Given the description of an element on the screen output the (x, y) to click on. 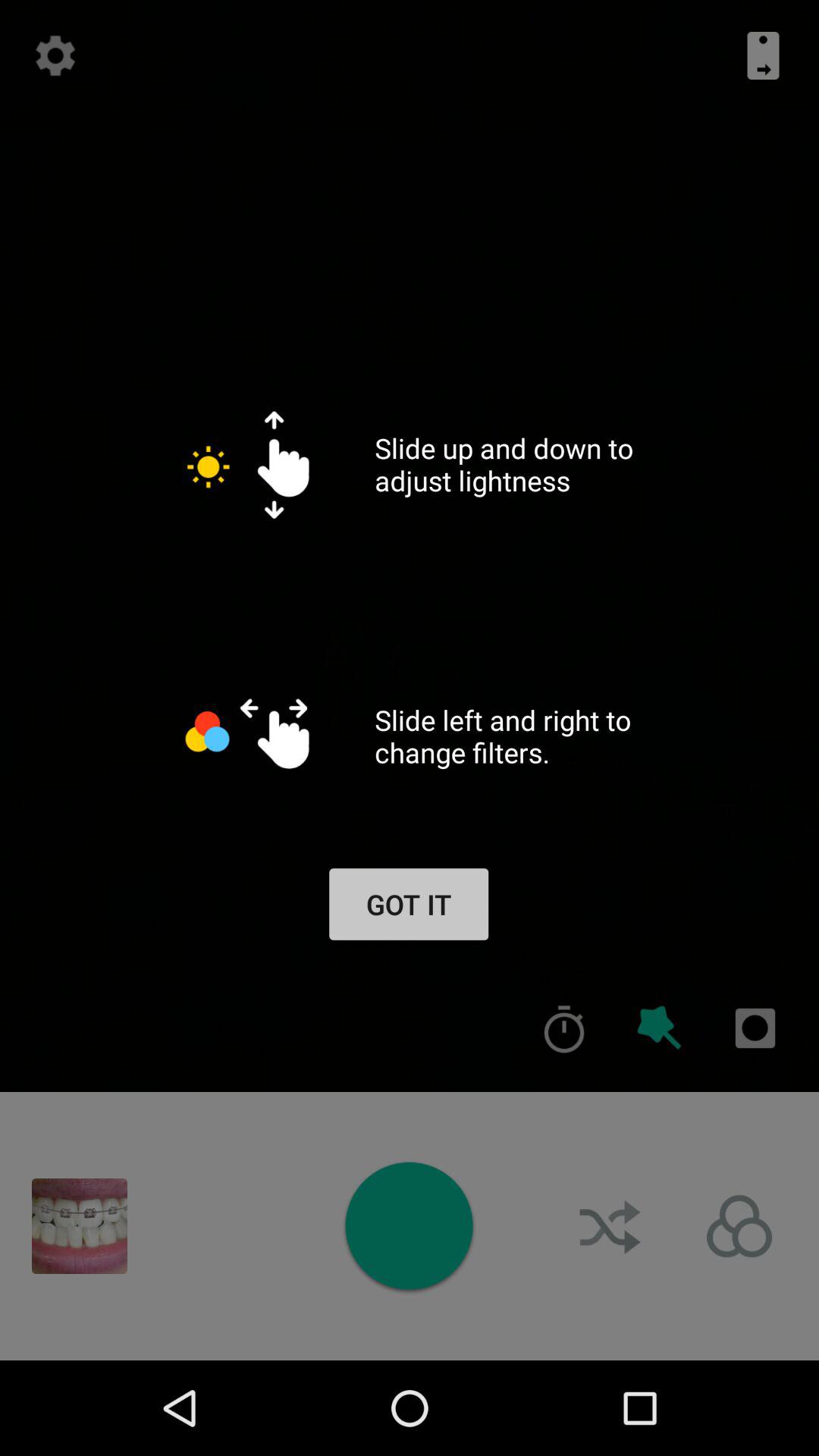
random (611, 1226)
